Given the description of an element on the screen output the (x, y) to click on. 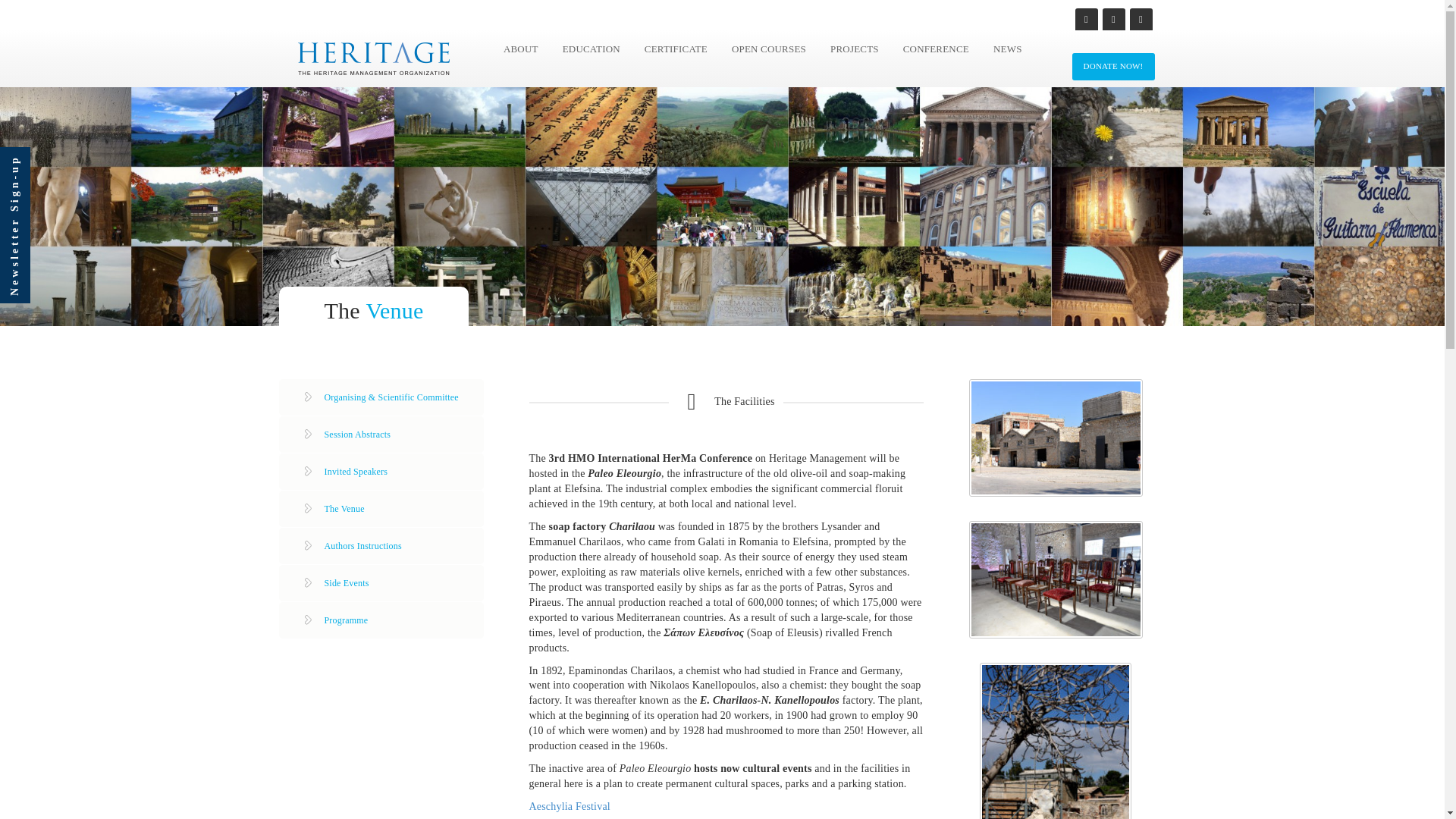
DONATE NOW! (1112, 66)
OPEN COURSES (768, 49)
CONFERENCE (935, 49)
PROJECTS (853, 49)
EDUCATION (591, 49)
About (521, 49)
Donate (1112, 66)
ABOUT (521, 49)
CERTIFICATE (676, 49)
